Given the description of an element on the screen output the (x, y) to click on. 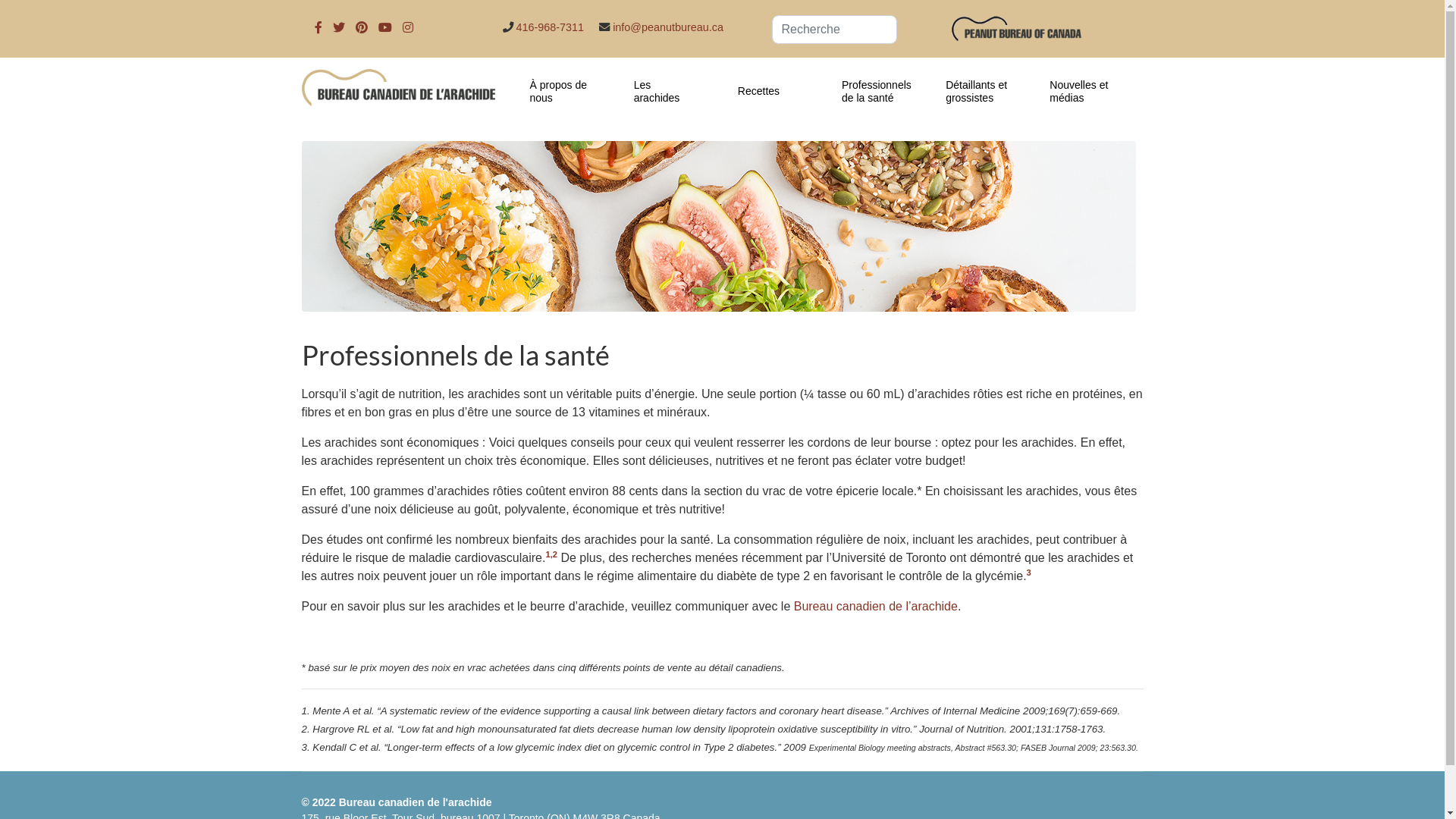
Peanut Bureau of Canada Element type: hover (1015, 25)
info@peanutbureau.ca Element type: text (667, 27)
416-968-7311 Element type: text (549, 27)
Les arachides Element type: text (674, 91)
Recettes Element type: text (778, 90)
